Given the description of an element on the screen output the (x, y) to click on. 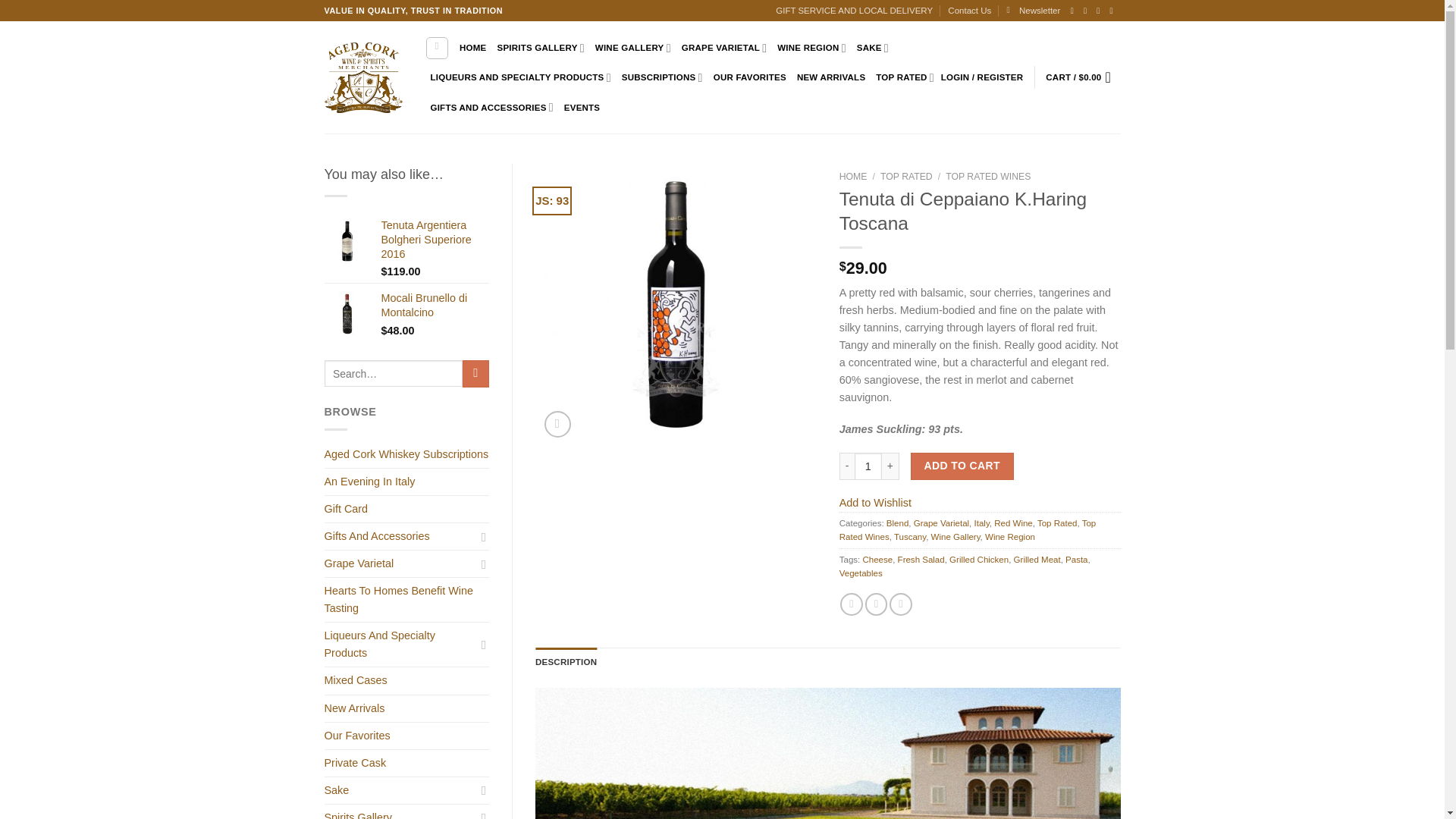
Cart (1082, 77)
HOME (473, 47)
WINE GALLERY (633, 48)
1 (868, 465)
Tenuta Argentiera Bolgheri Superiore 2016 (434, 239)
Login (981, 76)
Tenuta Argentiera Bolgheri Superiore 2016 (346, 240)
Mocali Brunello di Montalcino (346, 313)
Newsletter (1032, 10)
Sign up for Newsletter (1032, 10)
Contact Us (969, 10)
Call us (1113, 10)
Send us an email (1100, 10)
GIFT SERVICE AND LOCAL DELIVERY (854, 10)
SPIRITS GALLERY (541, 48)
